Given the description of an element on the screen output the (x, y) to click on. 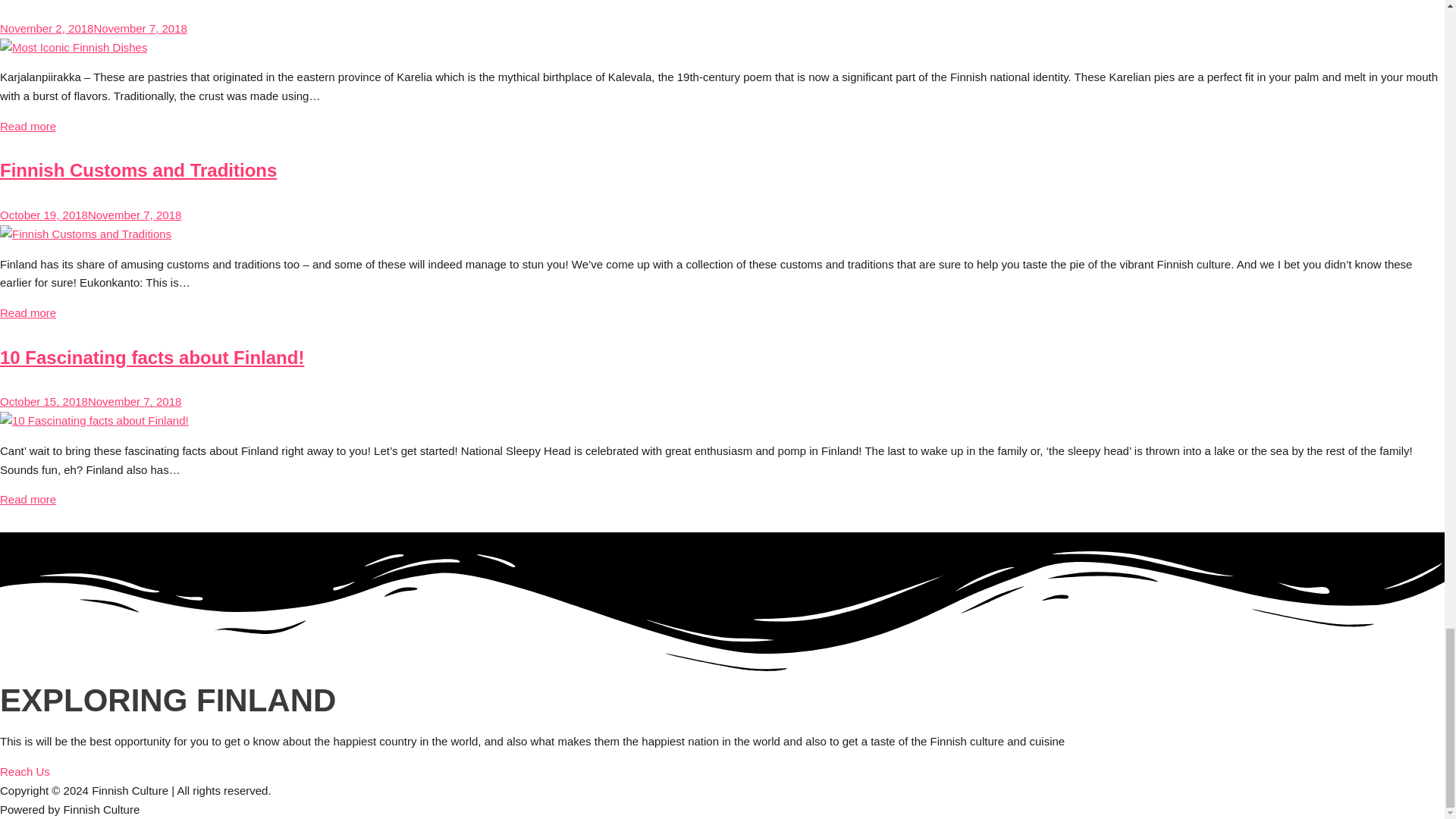
8:29 am (93, 28)
October 19, 2018November 7, 2018 (90, 214)
November 2, 2018November 7, 2018 (93, 28)
Finnish Customs and Traditions (138, 169)
Read more (28, 125)
Read more (28, 312)
